Given the description of an element on the screen output the (x, y) to click on. 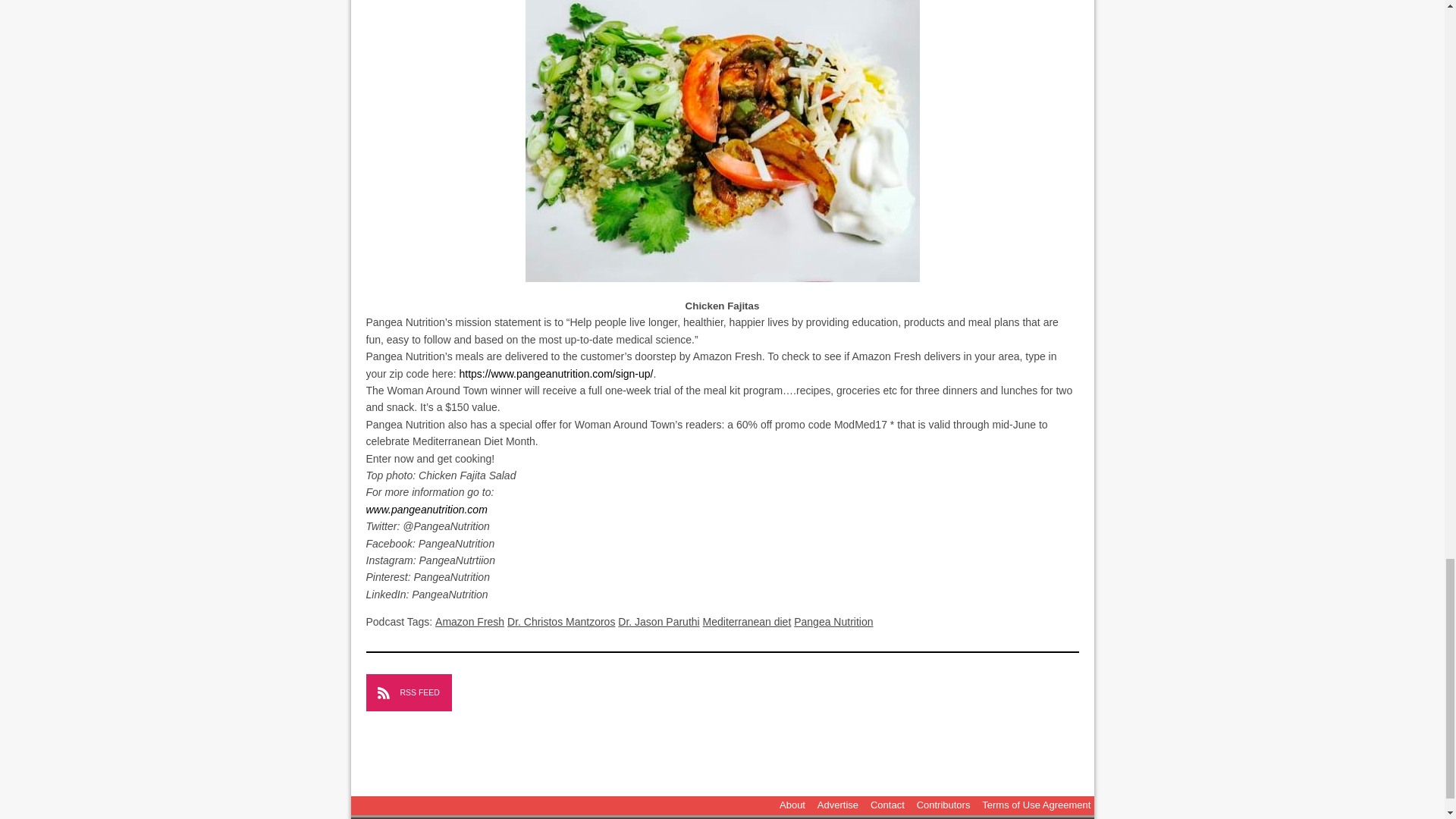
Contributors (942, 805)
Dr. Jason Paruthi (657, 621)
Pangea Nutrition (832, 621)
Amazon Fresh (469, 621)
Advertise (837, 805)
RSS FEED (408, 692)
Terms of Use Agreement (1035, 805)
Dr. Christos Mantzoros (560, 621)
www.pangeanutrition.com (425, 509)
About (791, 805)
